Given the description of an element on the screen output the (x, y) to click on. 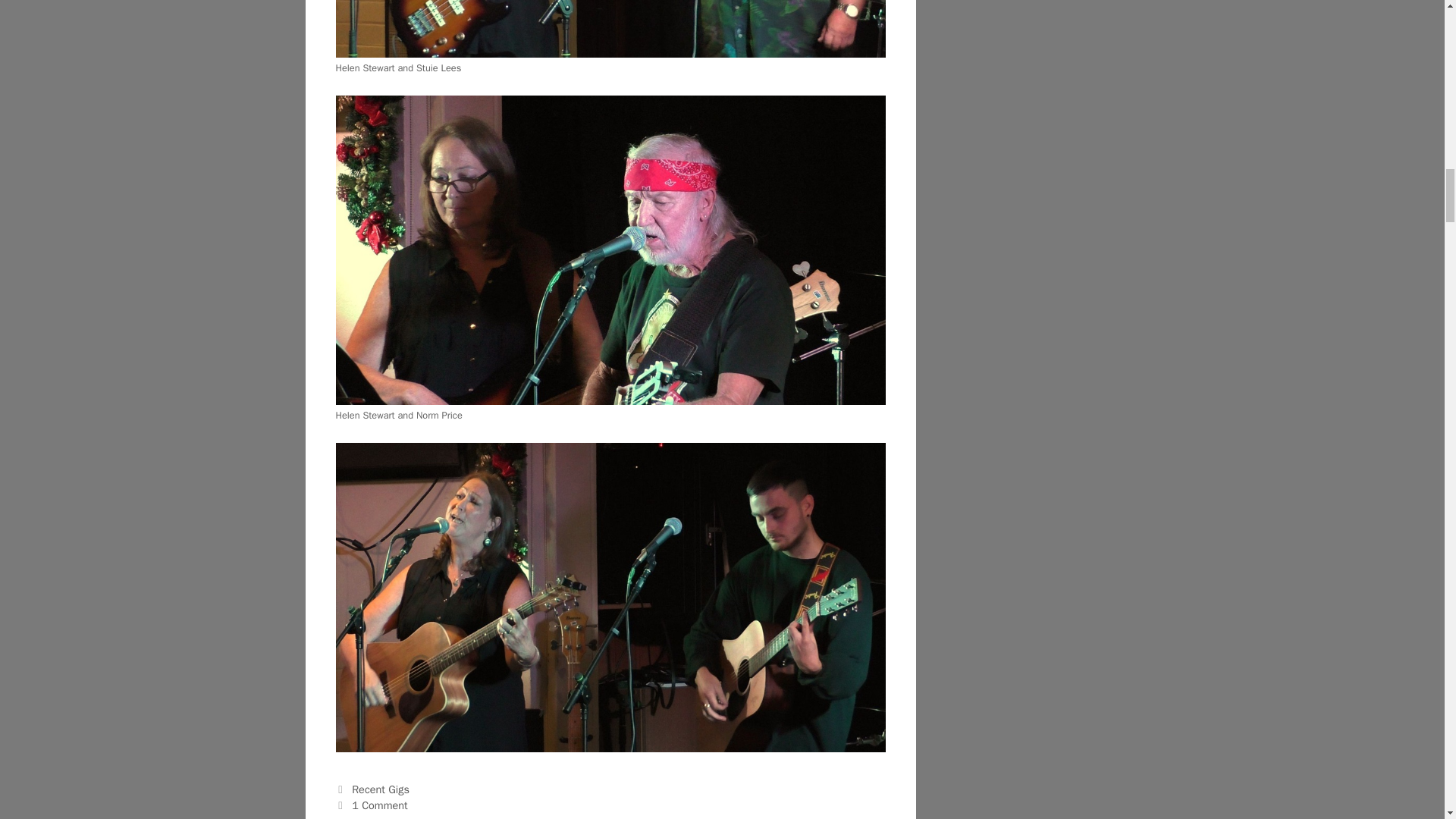
1 Comment (379, 805)
Recent Gigs (380, 789)
